Given the description of an element on the screen output the (x, y) to click on. 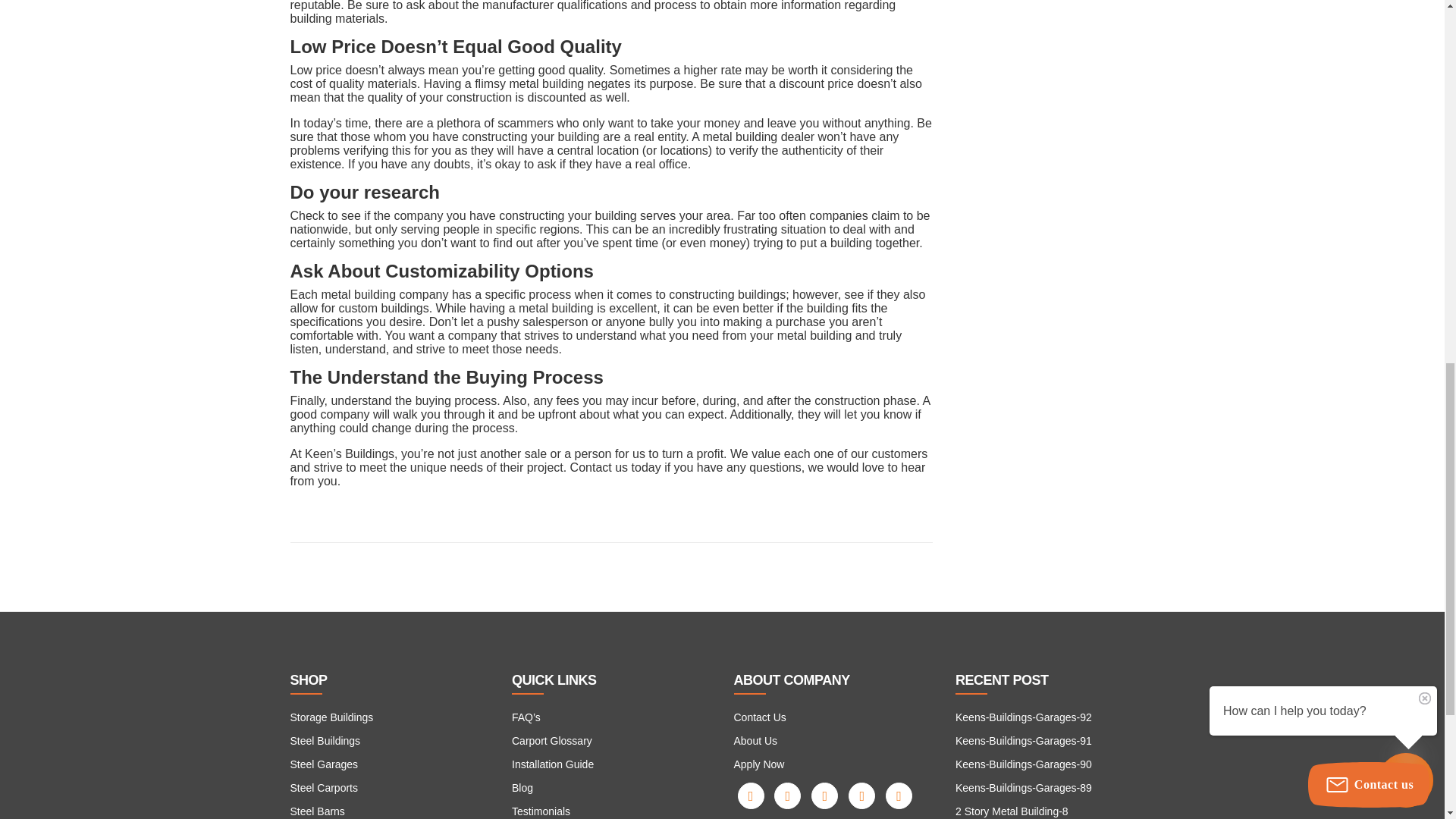
Steel Carports (322, 787)
Storage Buildings (330, 717)
Steel Buildings (324, 740)
Steel Garages (323, 764)
